Given the description of an element on the screen output the (x, y) to click on. 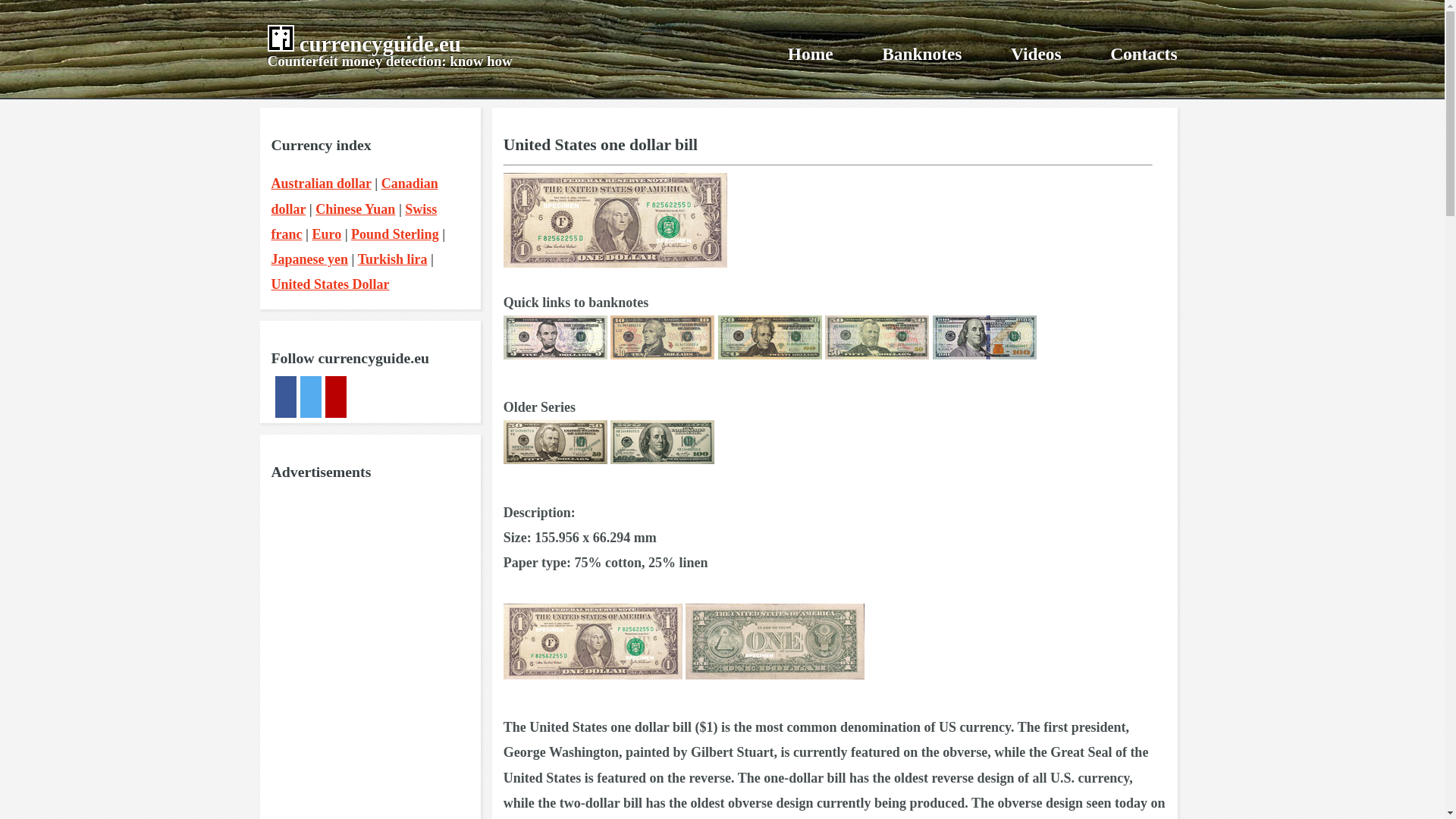
United States Dollar (330, 283)
Chinese Yuan (354, 209)
Japanese yen (309, 258)
Home (809, 53)
Euro (325, 233)
currencyguide.eu (380, 43)
Australian dollar (320, 183)
Banknotes (921, 53)
Contacts (1142, 53)
Swiss franc (354, 221)
